Given the description of an element on the screen output the (x, y) to click on. 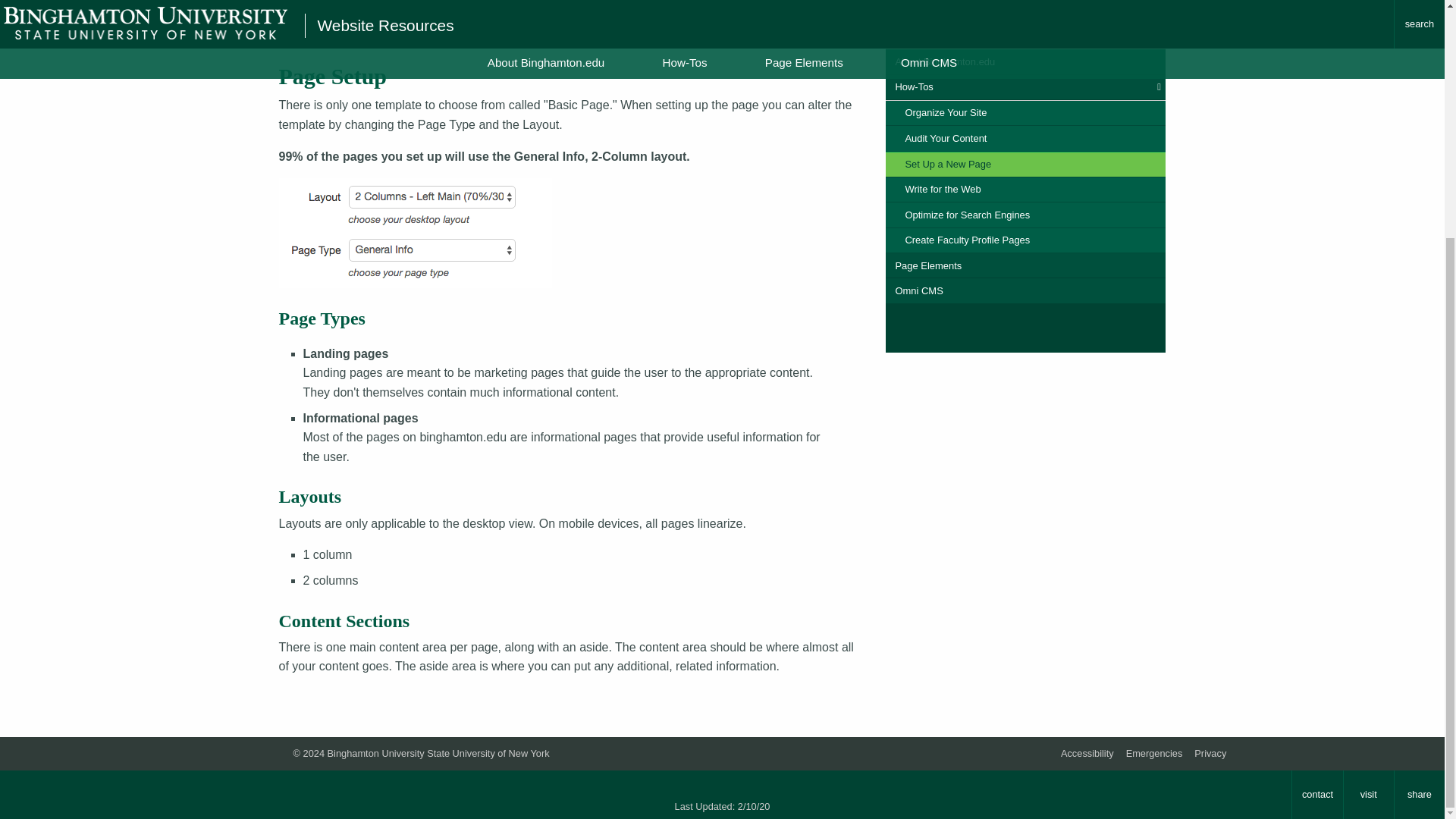
Website Resources (356, 25)
Privacy (1209, 753)
Home (291, 25)
Emergencies (1154, 753)
Optimize for Search Engines (1025, 214)
Set Up a New Page (1025, 164)
About Binghamton.edu (1025, 61)
How-Tos (1025, 87)
Omni CMS (1025, 290)
How-Tos (429, 25)
Audit Your Content (1025, 138)
Set Up a New Page (500, 25)
Accessibility (1086, 753)
Page Elements (1025, 265)
Write for the Web (1025, 189)
